Given the description of an element on the screen output the (x, y) to click on. 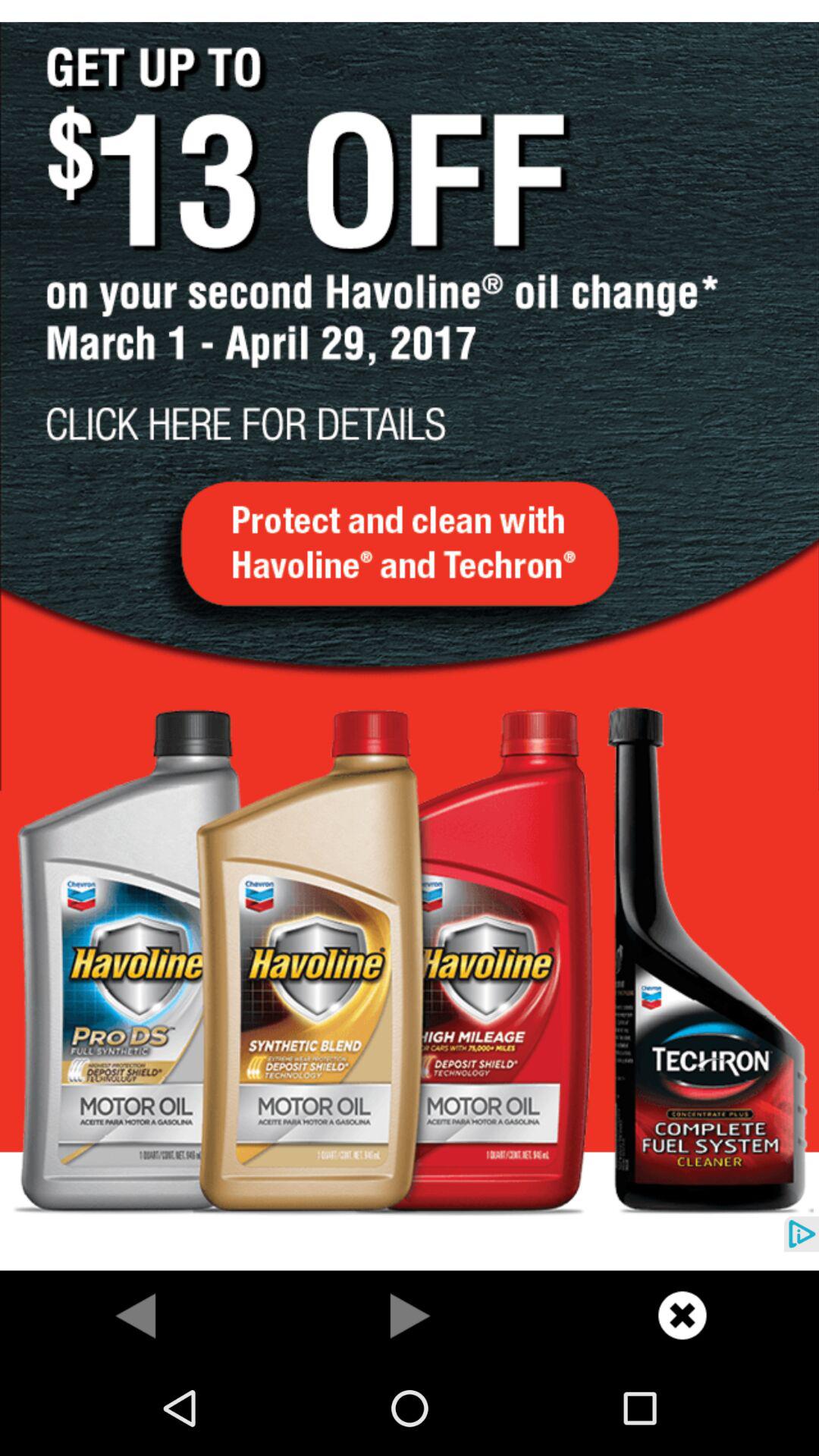
motor oil details (409, 635)
